Given the description of an element on the screen output the (x, y) to click on. 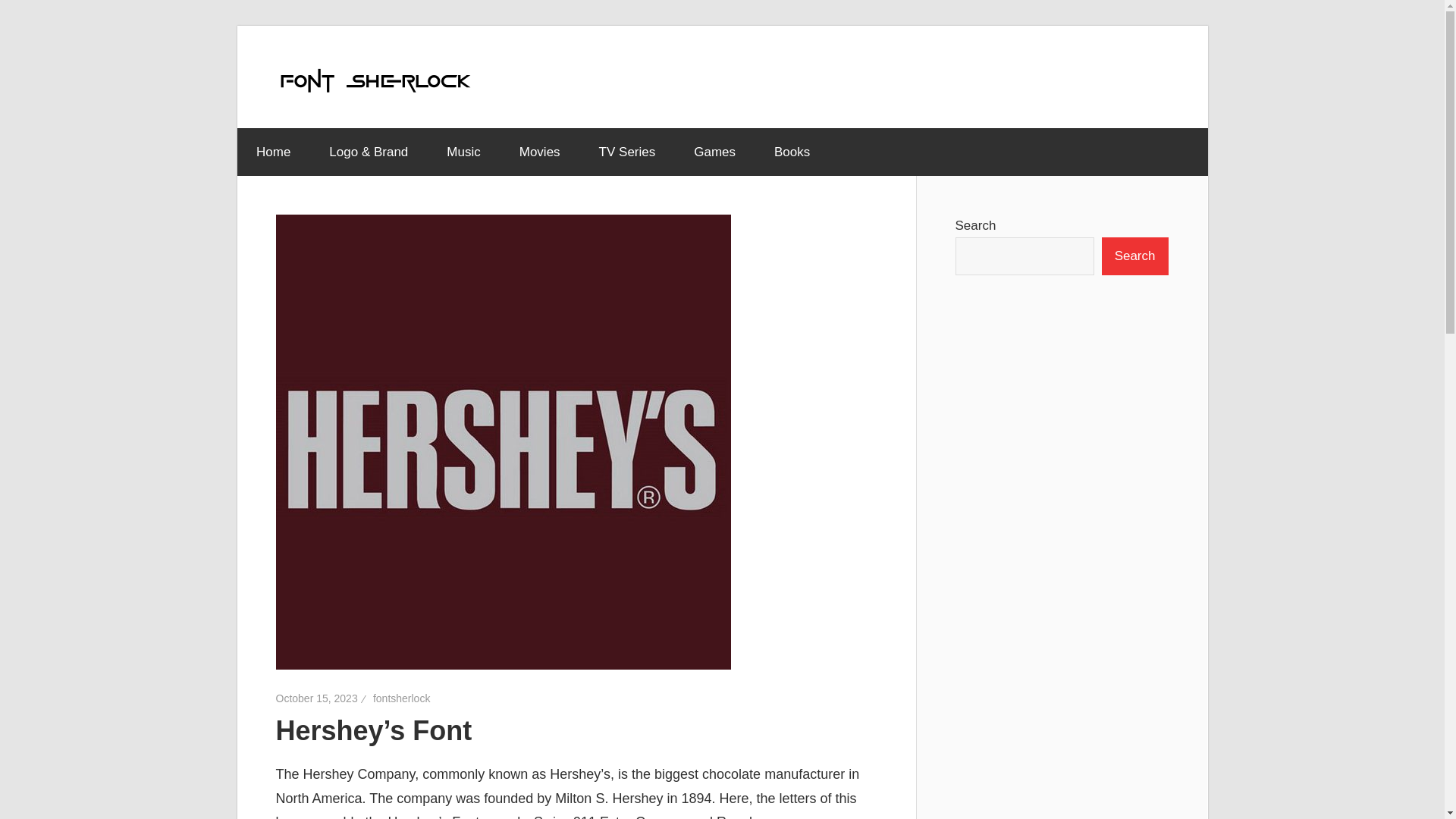
Books (792, 151)
fontsherlock (400, 697)
View all posts by fontsherlock (400, 697)
Home (271, 151)
Movies (539, 151)
October 15, 2023 (317, 697)
TV Series (627, 151)
5:14 am (317, 697)
Music (463, 151)
Games (715, 151)
